Given the description of an element on the screen output the (x, y) to click on. 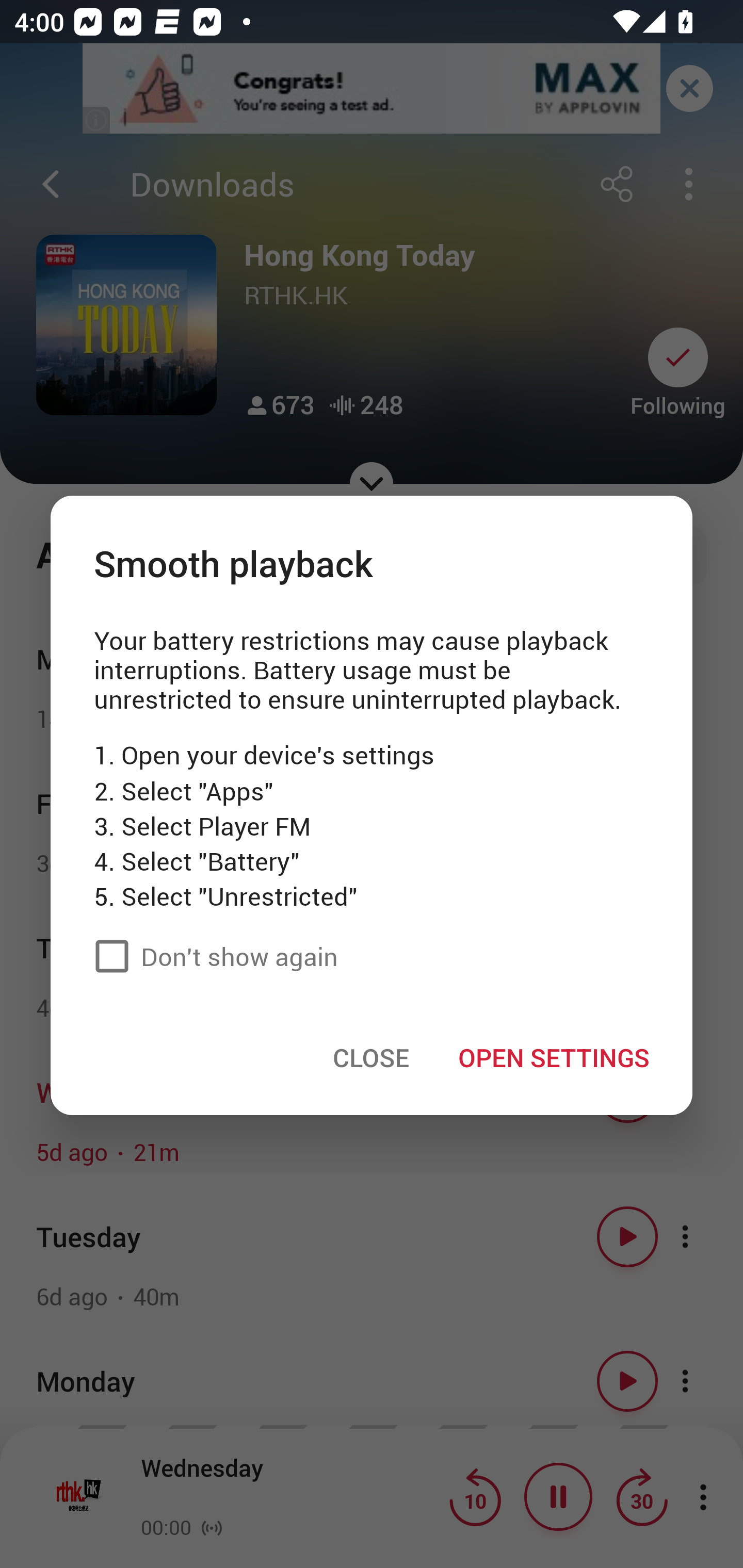
Don't show again (210, 955)
CLOSE (371, 1057)
OPEN SETTINGS (553, 1057)
